Given the description of an element on the screen output the (x, y) to click on. 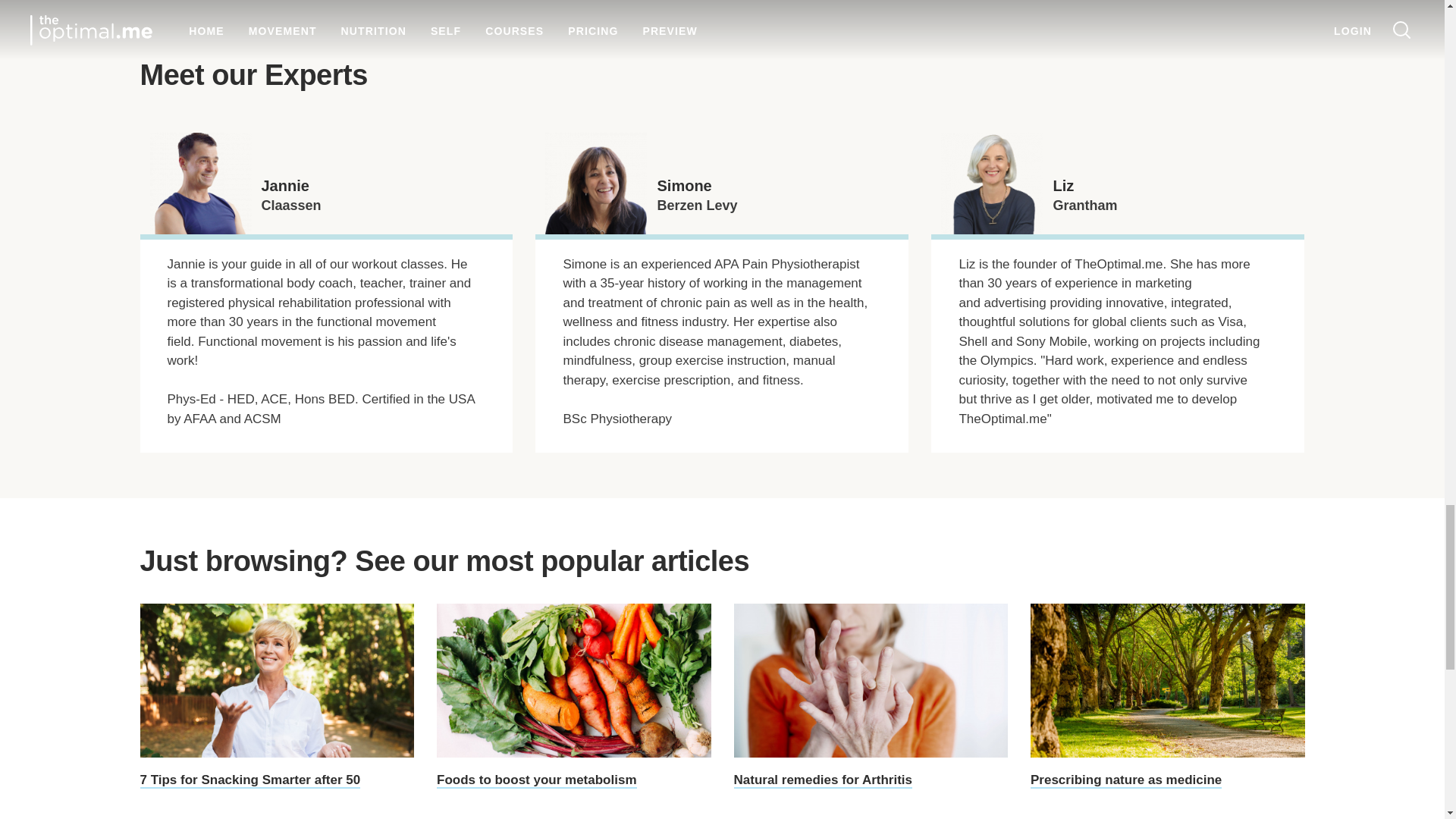
Foods to boost your metabolism (573, 696)
7 Tips for Snacking Smarter after 50 (276, 696)
Natural remedies for Arthritis (871, 696)
7 Tips for Snacking Smarter after 50 (276, 696)
Prescribing nature as medicine (1167, 696)
Foods to boost your metabolism (573, 696)
